Given the description of an element on the screen output the (x, y) to click on. 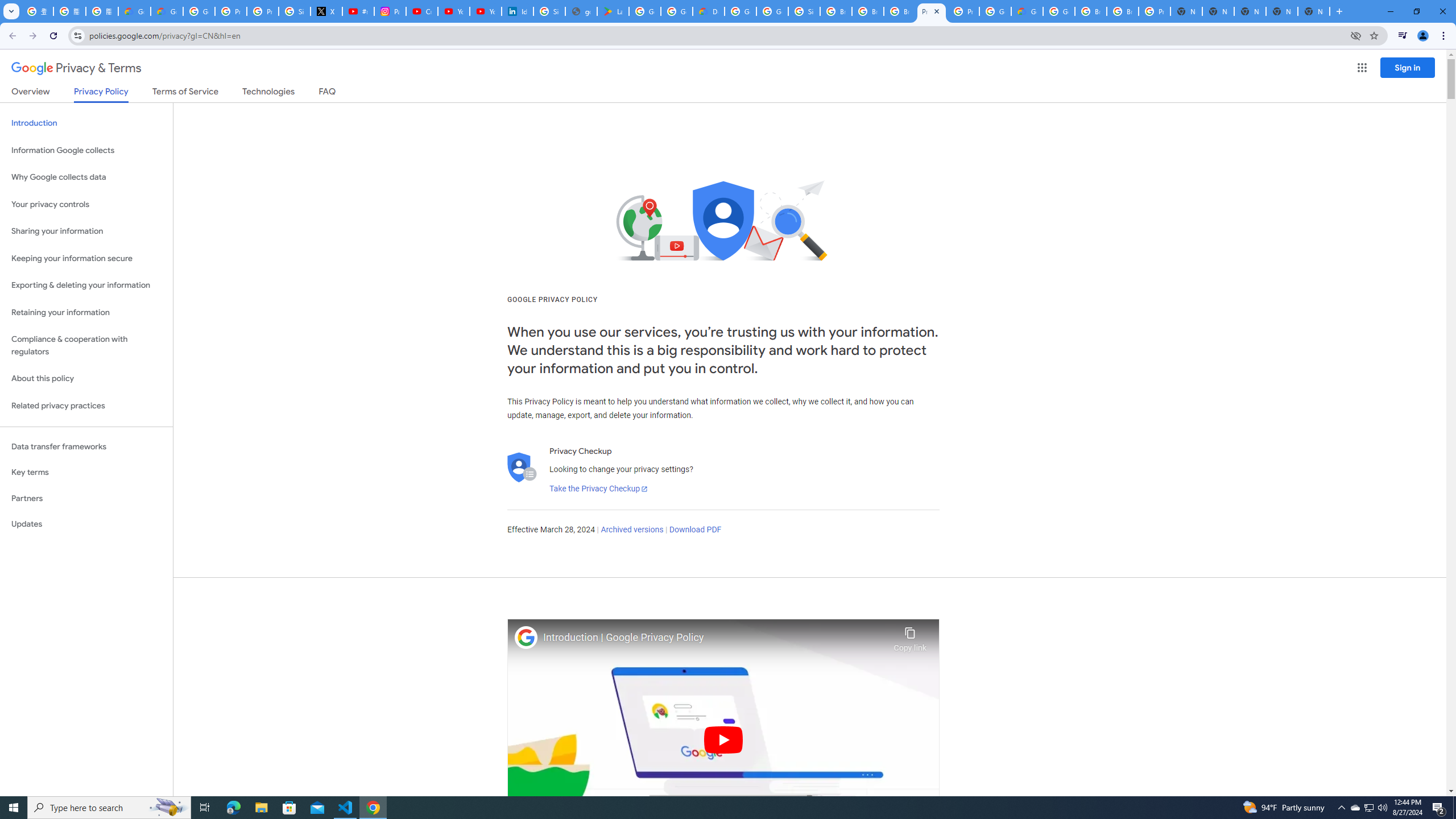
Updates (86, 524)
Terms of Service (184, 93)
Browse Chrome as a guest - Computer - Google Chrome Help (899, 11)
Identity verification via Persona | LinkedIn Help (517, 11)
About this policy (86, 379)
Archived versions (631, 529)
google_privacy_policy_en.pdf (581, 11)
Privacy Help Center - Policies Help (262, 11)
Privacy Policy (100, 94)
Google Cloud Platform (995, 11)
Address and search bar (715, 35)
X (326, 11)
